Given the description of an element on the screen output the (x, y) to click on. 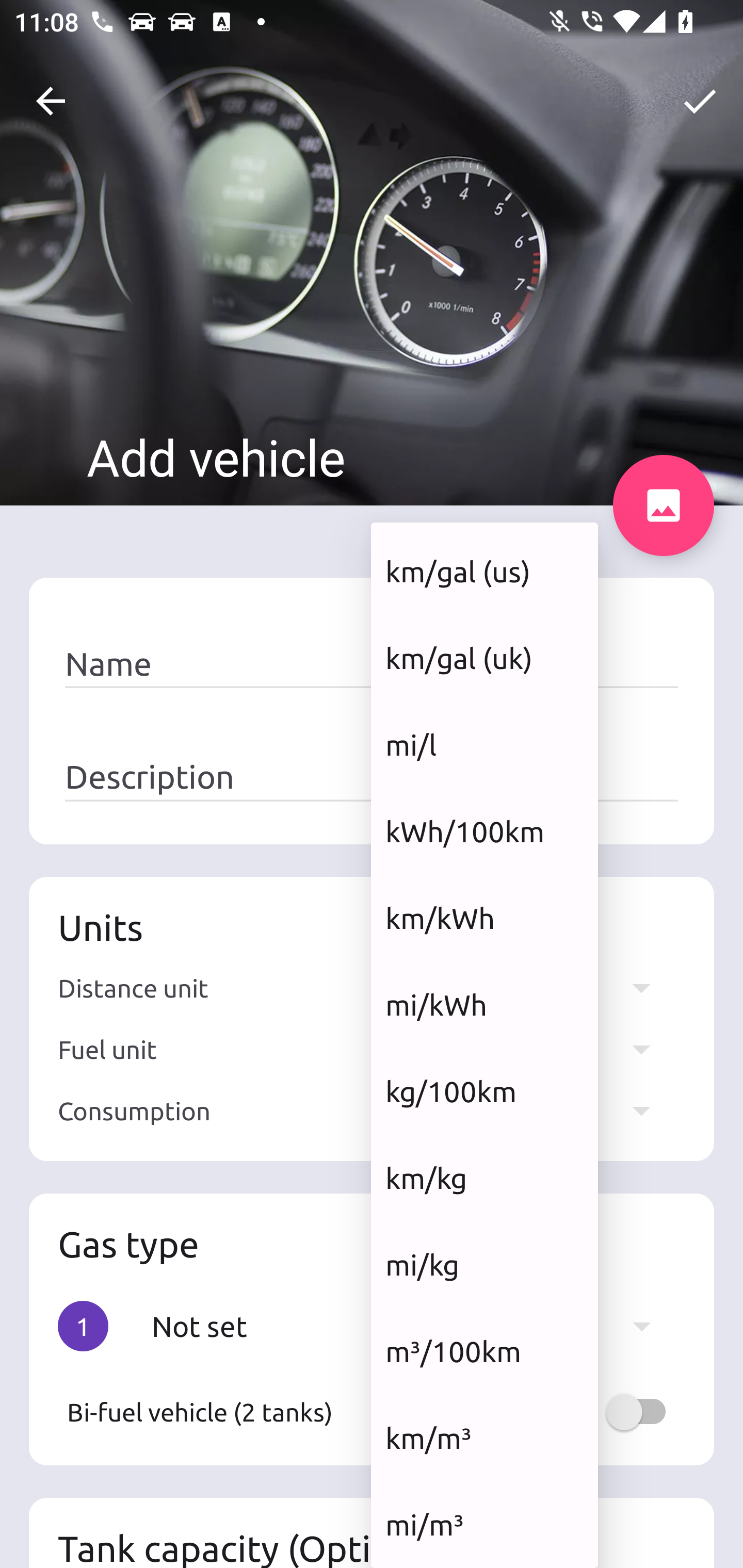
km/gal (us) (484, 571)
km/gal (uk) (484, 657)
mi/l (484, 744)
kWh/100km (484, 831)
km/kWh (484, 917)
mi/kWh (484, 1004)
kg/100km (484, 1091)
km/kg (484, 1178)
mi/kg (484, 1264)
m³/100km (484, 1350)
km/m³ (484, 1437)
mi/m³ (484, 1524)
